Given the description of an element on the screen output the (x, y) to click on. 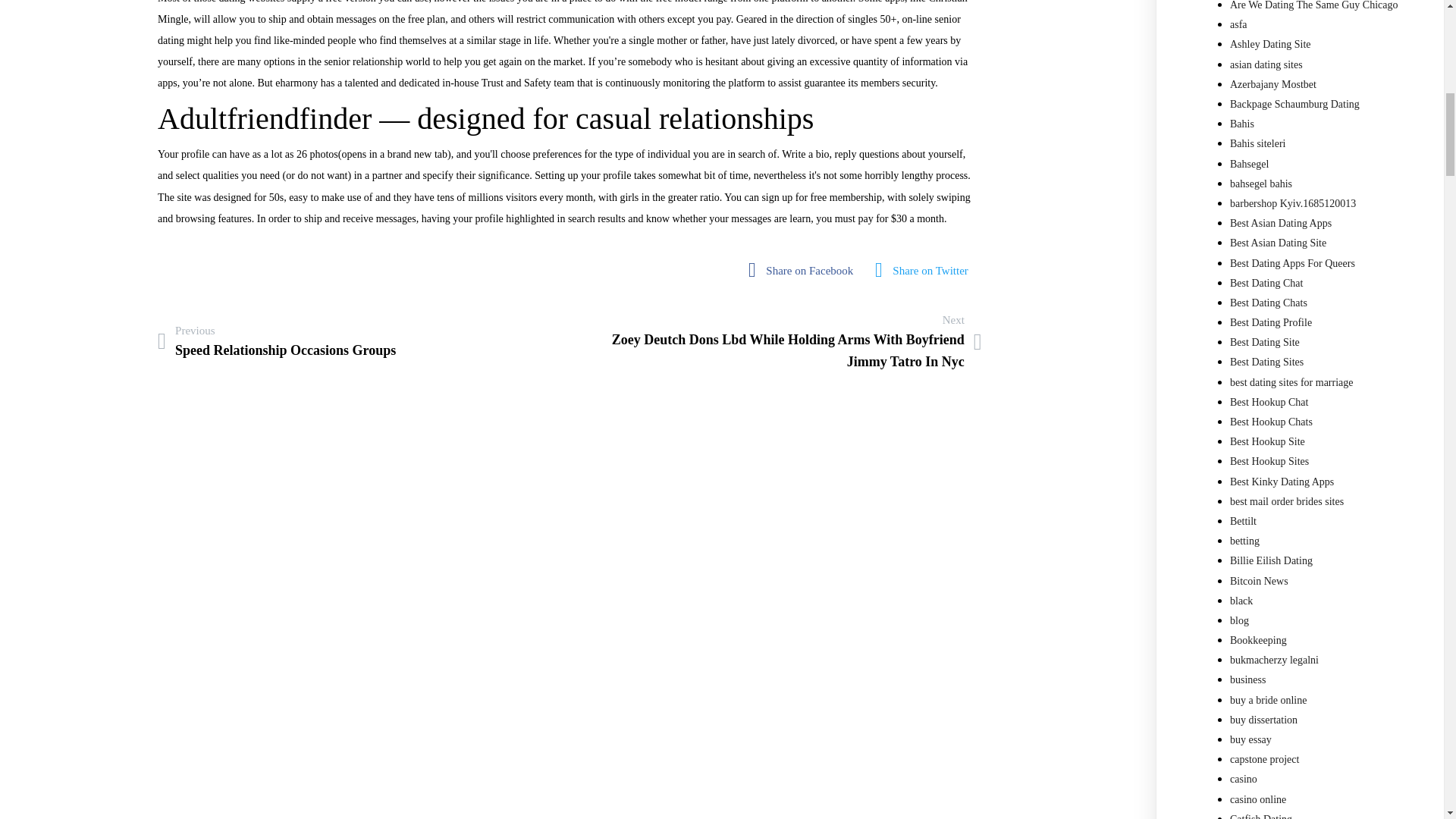
fab fa-twitter-square (925, 270)
business (1247, 679)
fab fa-facebook-square (804, 270)
Share on Twitter (276, 341)
Share on Facebook (925, 270)
